Given the description of an element on the screen output the (x, y) to click on. 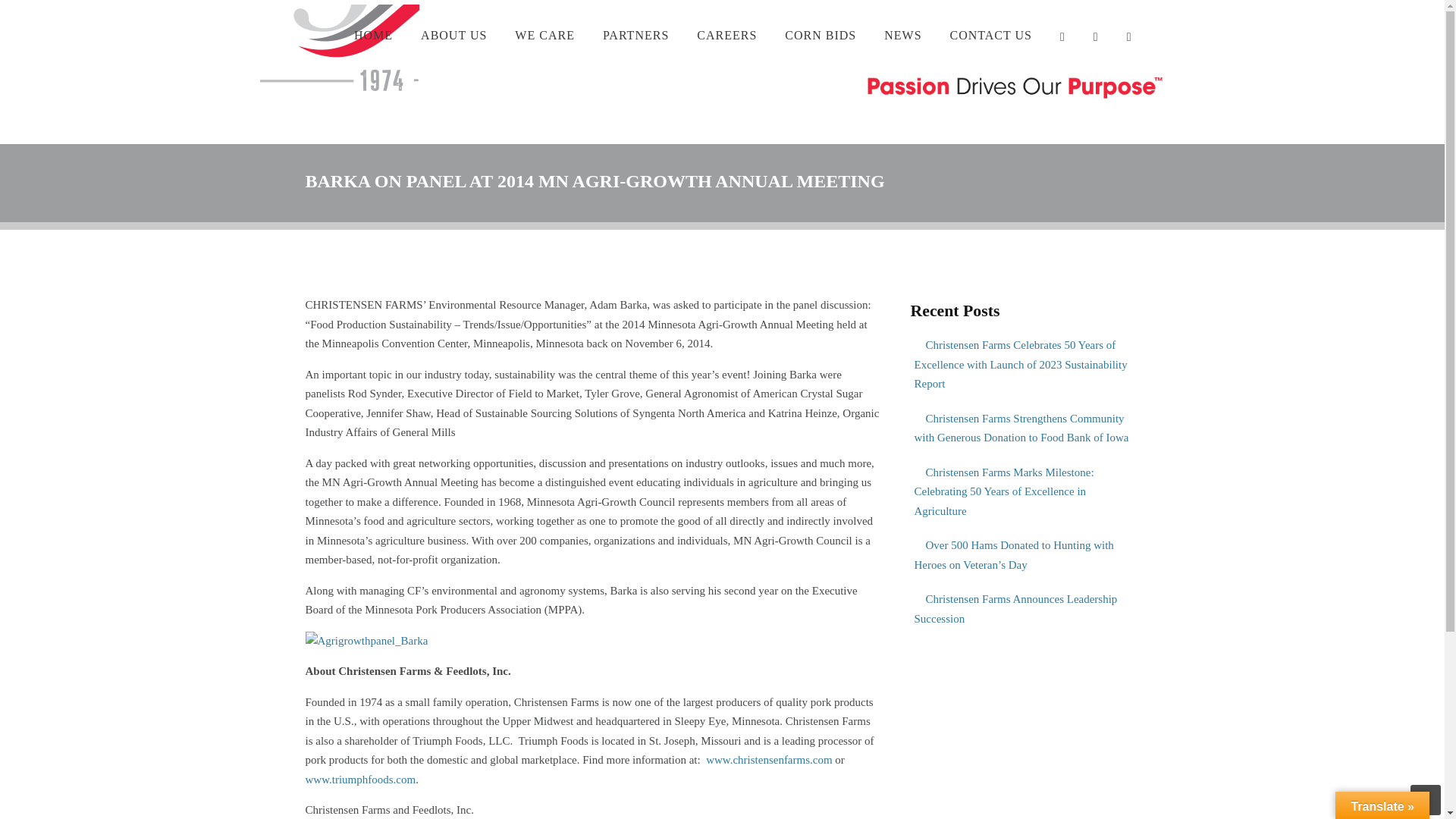
www.christensenfarms.com (768, 759)
Christensen Farms Announces Leadership Succession (1024, 609)
HOME (373, 35)
WE CARE (544, 35)
www.triumphfoods.com (359, 779)
ABOUT US (454, 35)
CORN BIDS (820, 35)
PARTNERS (636, 35)
